Given the description of an element on the screen output the (x, y) to click on. 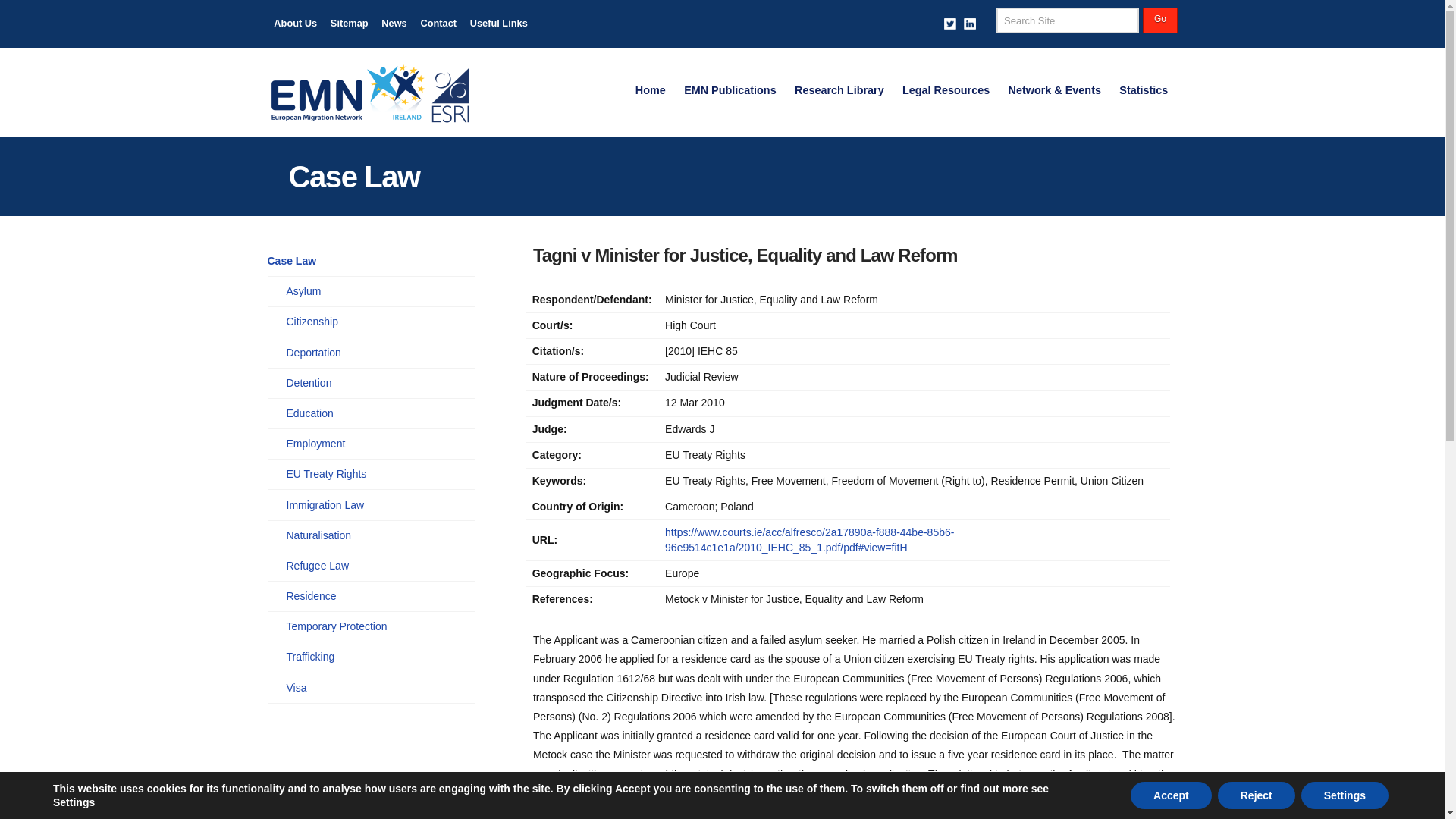
EMN Publications (730, 90)
Contact (438, 23)
Useful Links (498, 23)
Sitemap (348, 23)
Visa (296, 688)
Citizenship (311, 321)
About Us (294, 23)
Asylum (303, 291)
Education (309, 413)
Residence (311, 596)
Refugee Law (317, 565)
Temporary Protection (336, 626)
Legal Resources (945, 90)
Employment (316, 443)
EU Treaty Rights (326, 474)
